Given the description of an element on the screen output the (x, y) to click on. 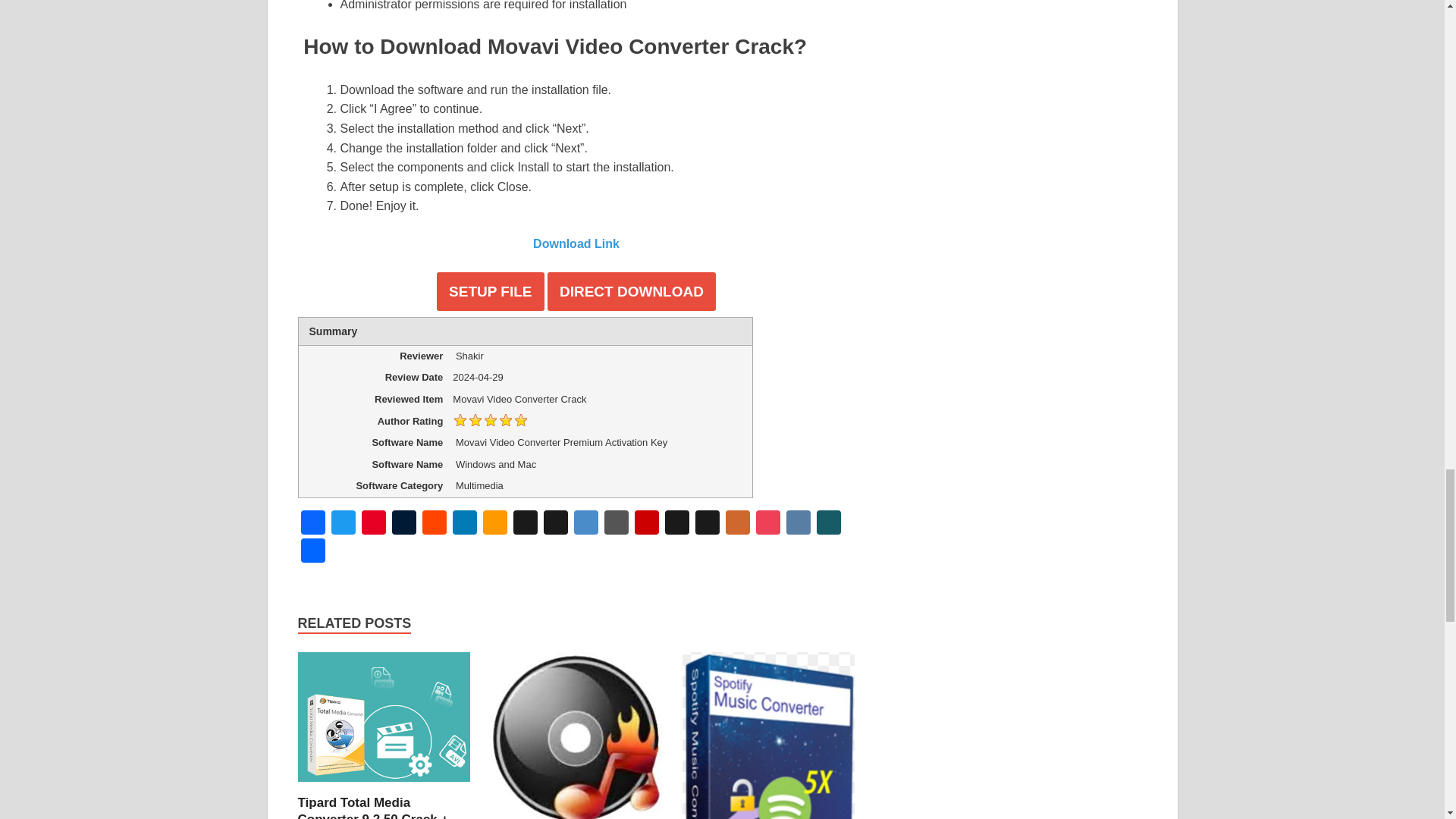
Tumblr (403, 524)
LinkedIn (463, 524)
Diigo (584, 524)
Flipboard (645, 524)
Facebook (312, 524)
Pinterest (373, 524)
Reddit (433, 524)
Amazon Wish List (494, 524)
Buffer (524, 524)
Twitter (342, 524)
Fark (614, 524)
Instapaper (676, 524)
Digg (555, 524)
